Given the description of an element on the screen output the (x, y) to click on. 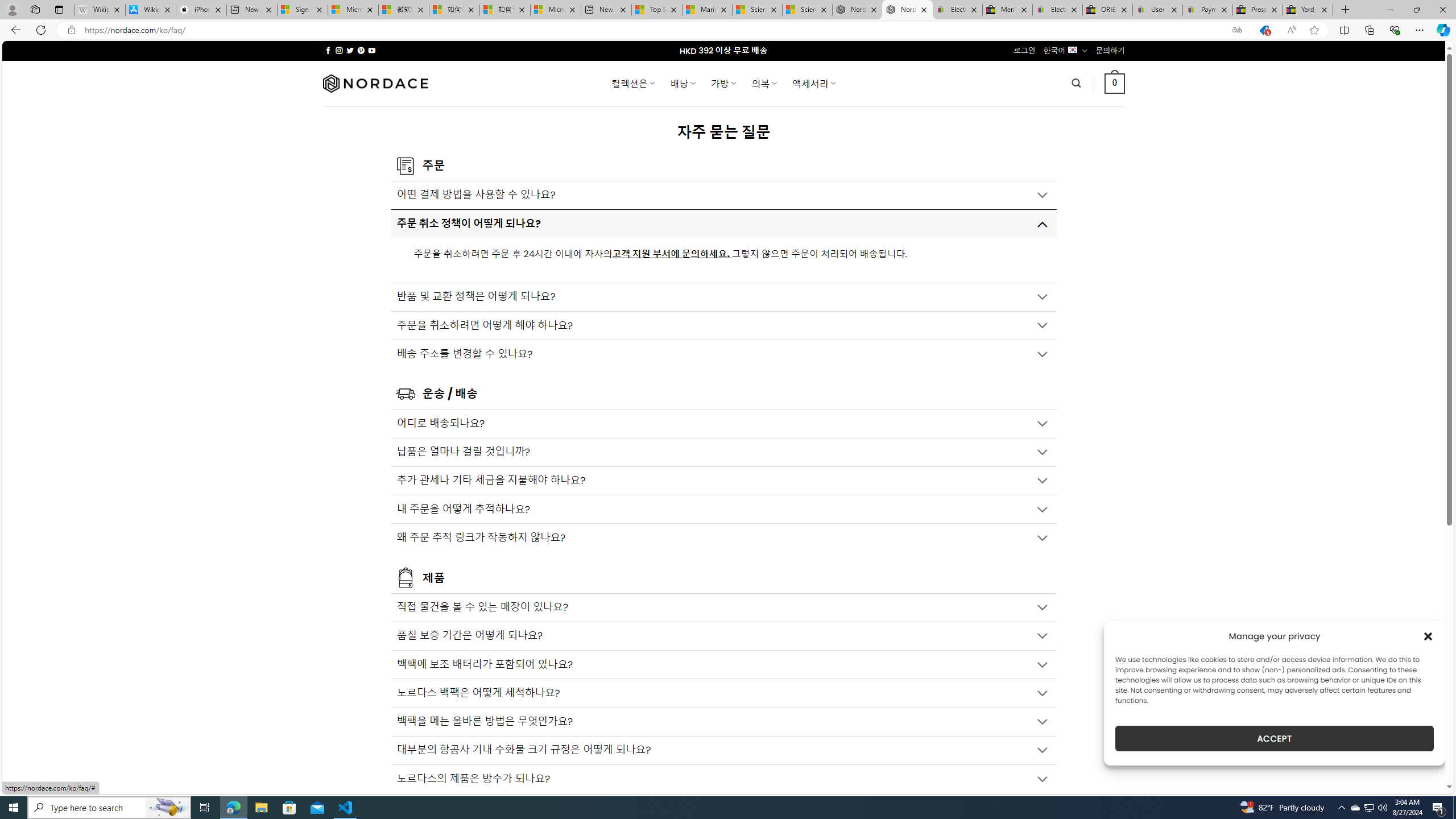
Press Room - eBay Inc. (1257, 9)
Top Stories - MSN (656, 9)
